Given the description of an element on the screen output the (x, y) to click on. 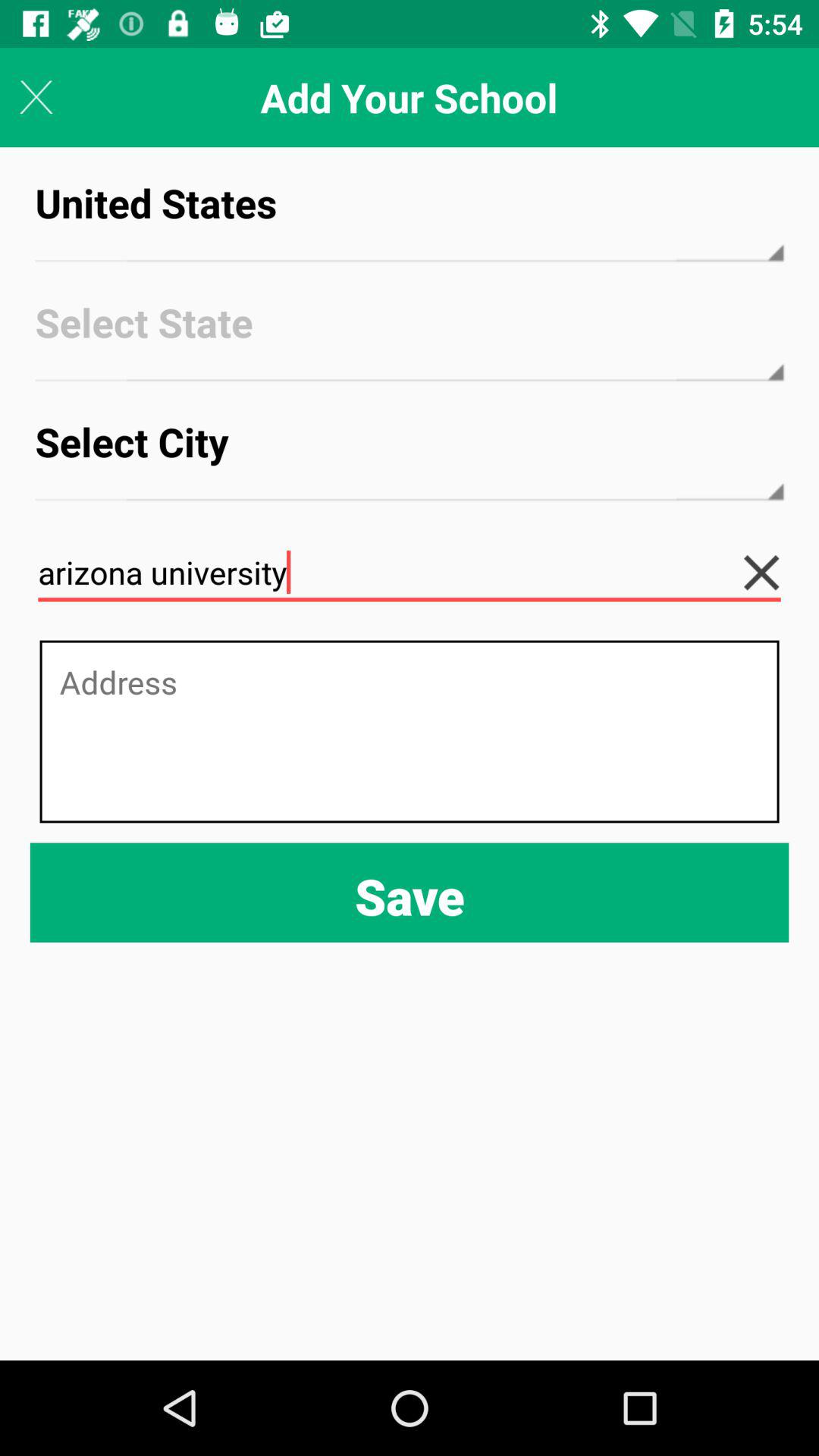
turn off the icon above select state (409, 216)
